Given the description of an element on the screen output the (x, y) to click on. 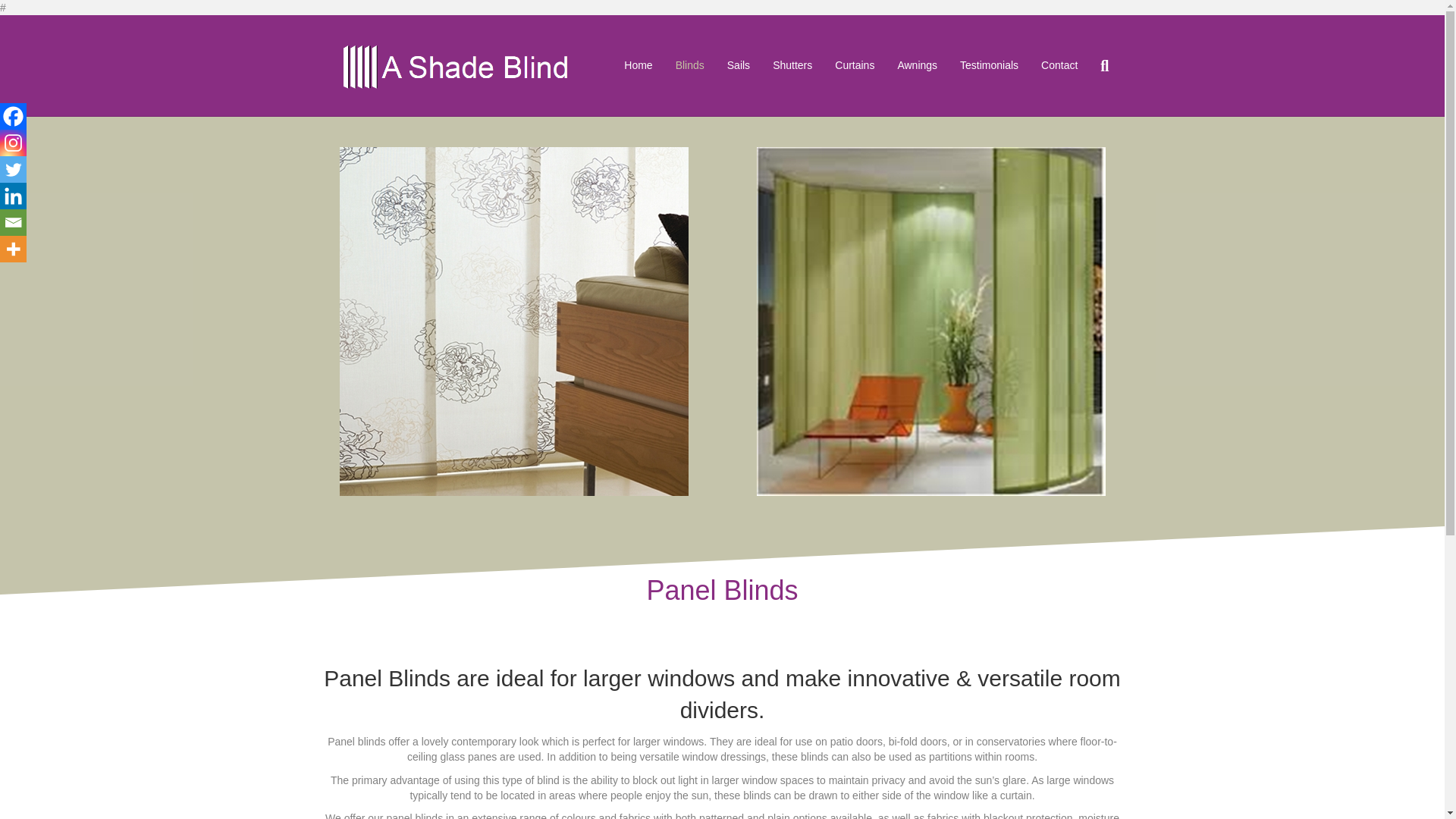
Blinds (689, 65)
A Shade Blind (637, 65)
Window Shutters (792, 65)
Home (637, 65)
Conservatory Roof Sails (738, 65)
Fitted Blinds (689, 65)
